Given the description of an element on the screen output the (x, y) to click on. 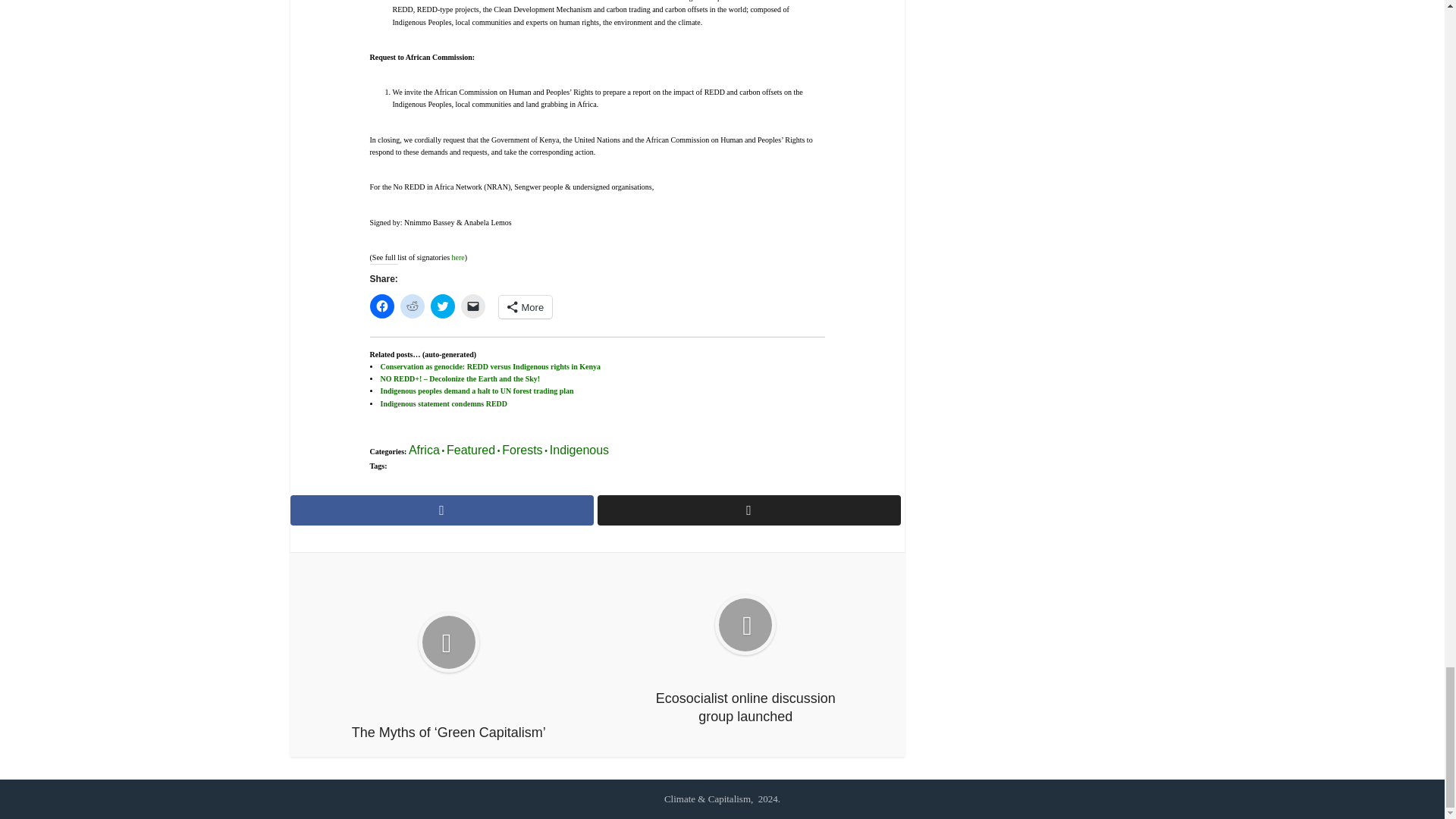
Click to share on Facebook (381, 306)
